Given the description of an element on the screen output the (x, y) to click on. 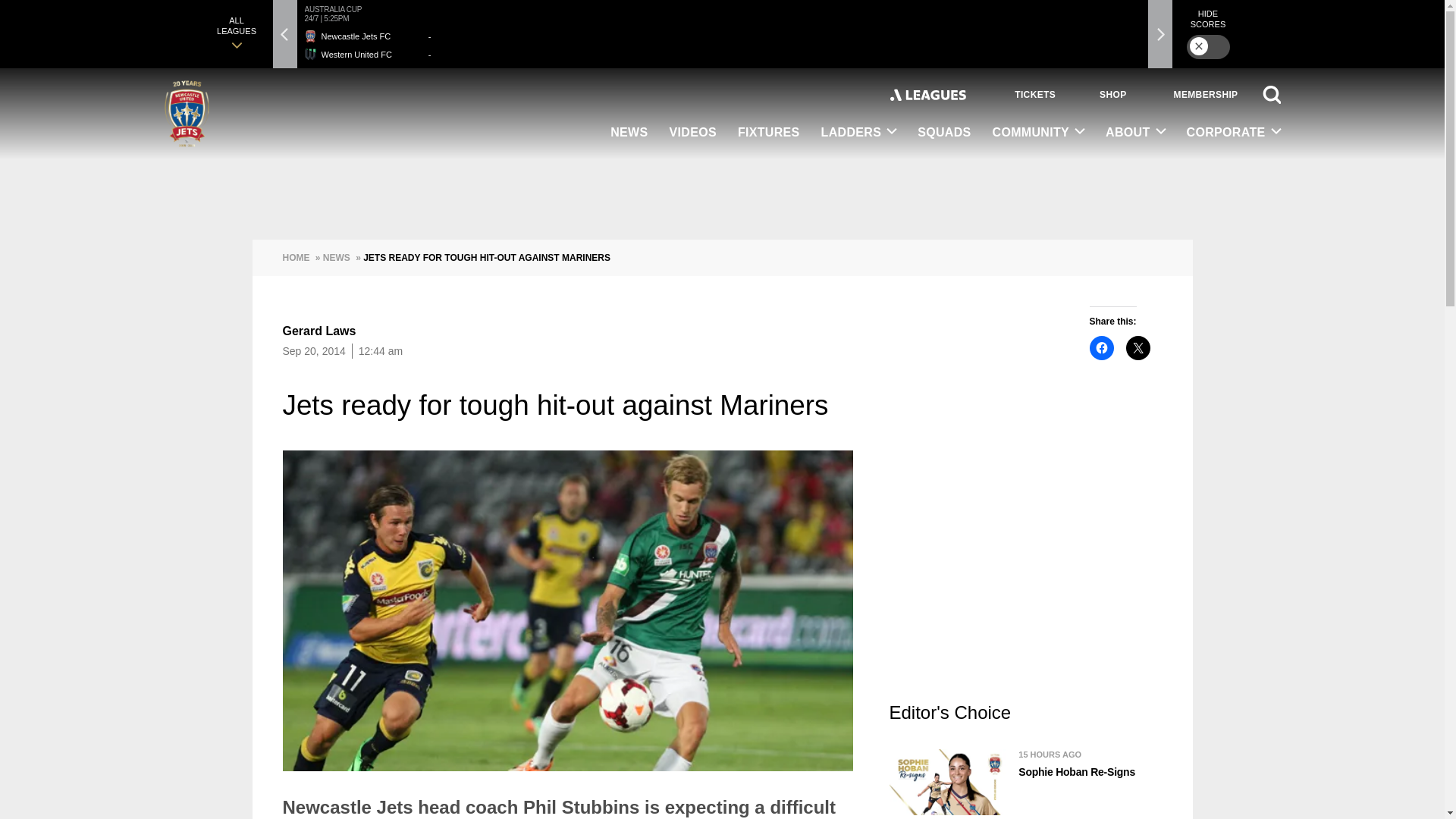
FIXTURES (768, 133)
LADDERS (858, 132)
VIDEOS (692, 133)
SQUADS (944, 133)
NEWS (628, 133)
Click to share on X (1137, 347)
COMMUNITY (1038, 132)
ABOUT (1134, 132)
Click to share on Facebook (1101, 347)
CORPORATE (1228, 132)
3rd party ad content (1024, 575)
